Given the description of an element on the screen output the (x, y) to click on. 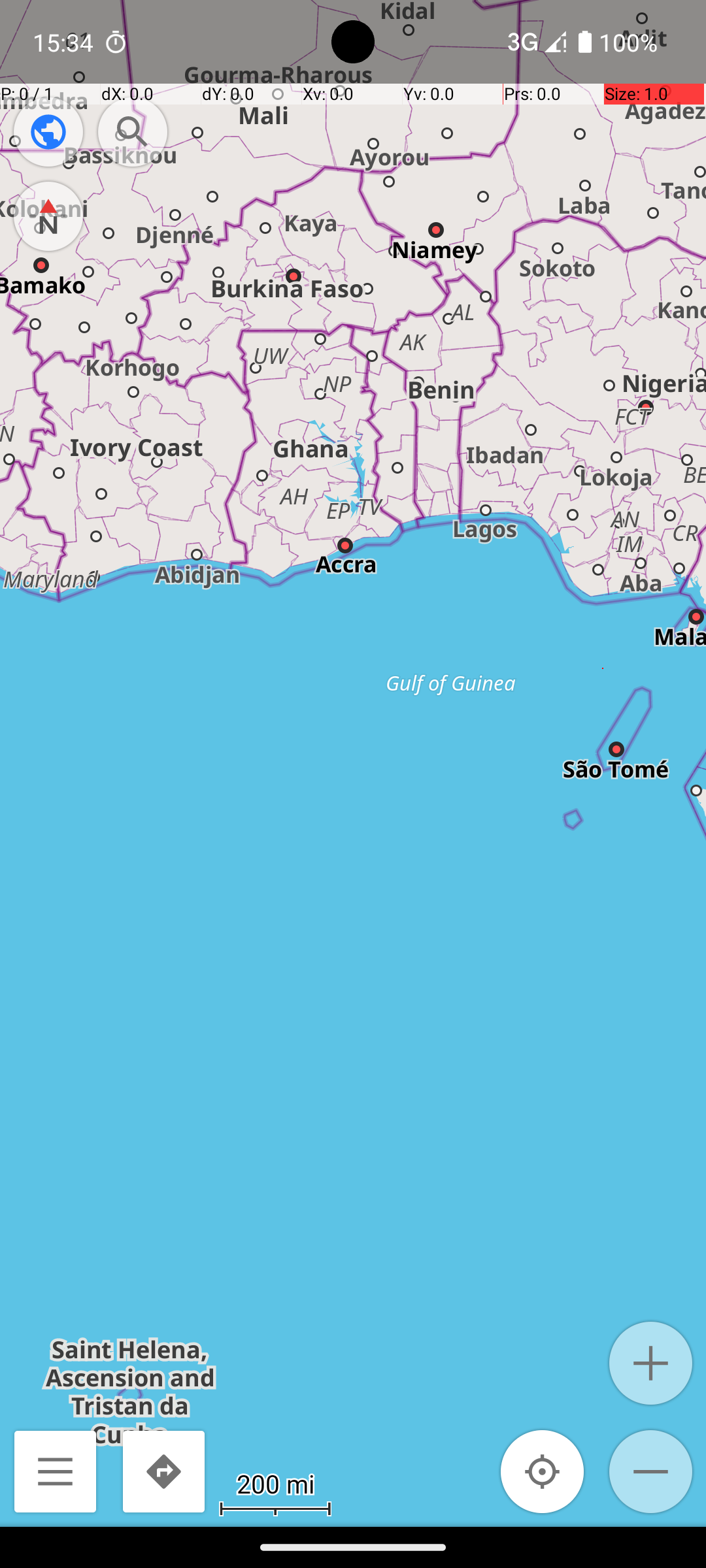
North is up Element type: android.widget.ImageButton (48, 216)
